Given the description of an element on the screen output the (x, y) to click on. 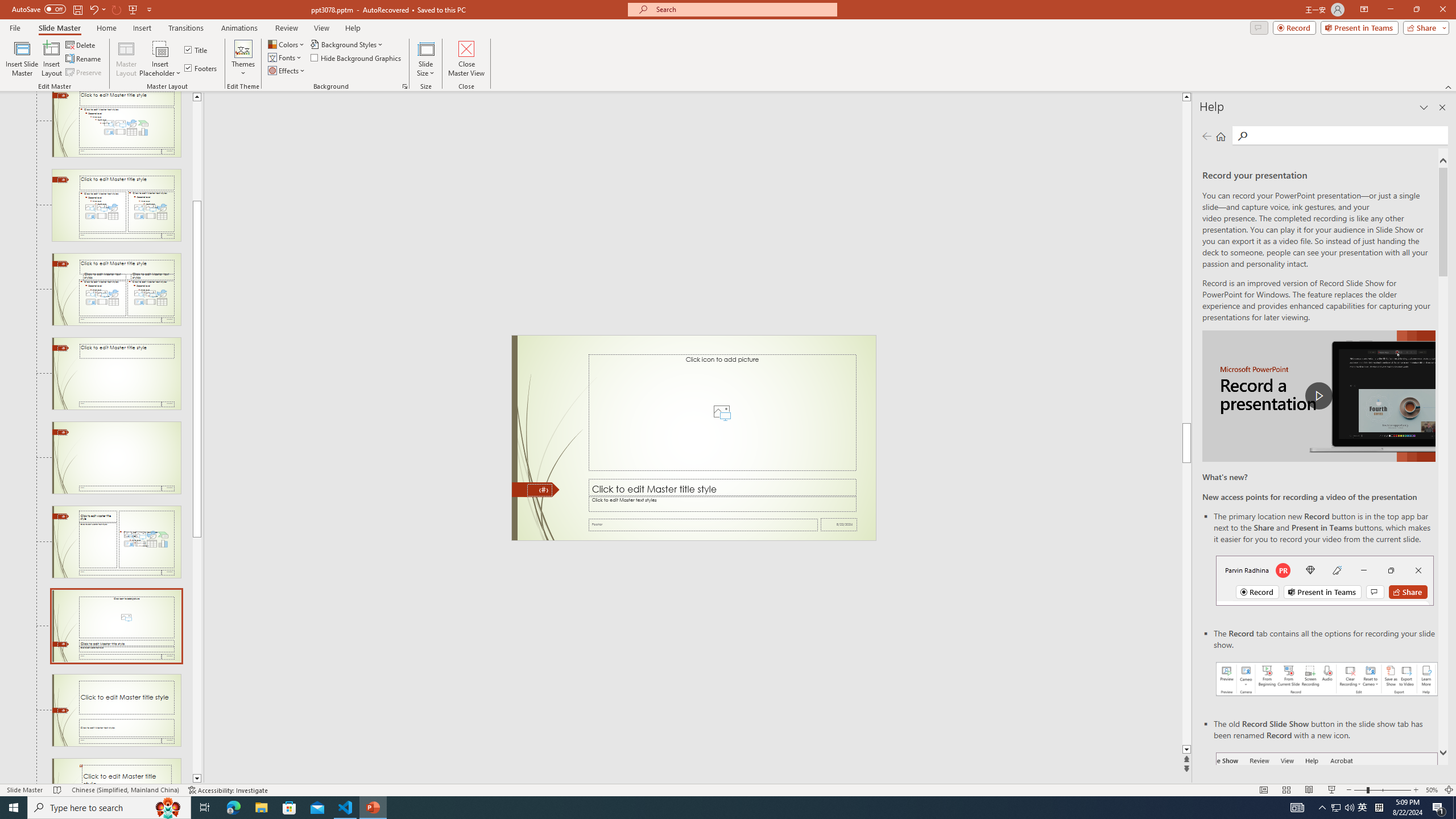
Slide Content with Caption Layout: used by no slides (116, 542)
Freeform 11 (535, 489)
Close Master View (466, 58)
Insert Placeholder (160, 58)
Insert Layout (51, 58)
Footers (201, 67)
Rename (84, 58)
